Given the description of an element on the screen output the (x, y) to click on. 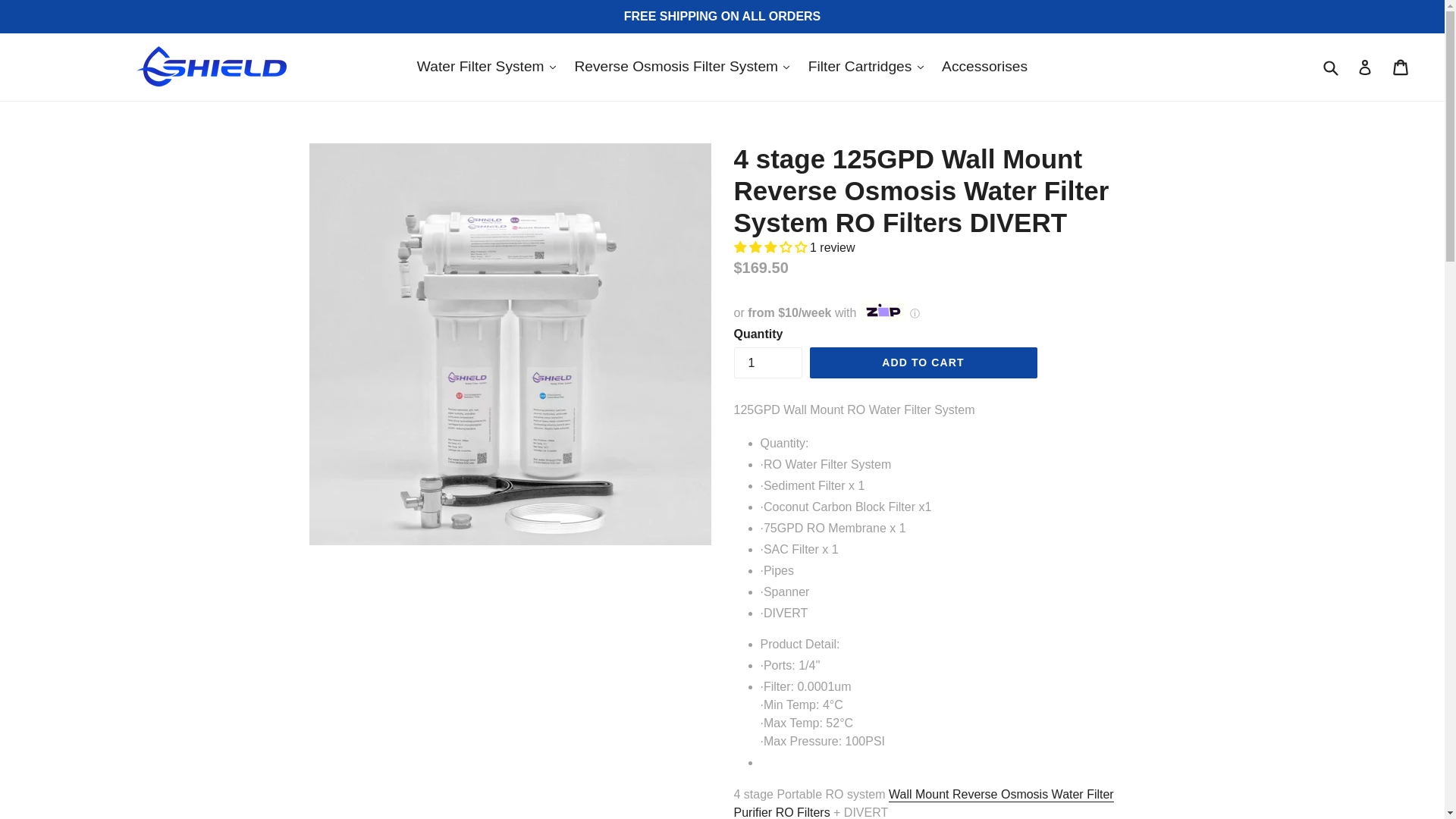
1 (767, 362)
